Given the description of an element on the screen output the (x, y) to click on. 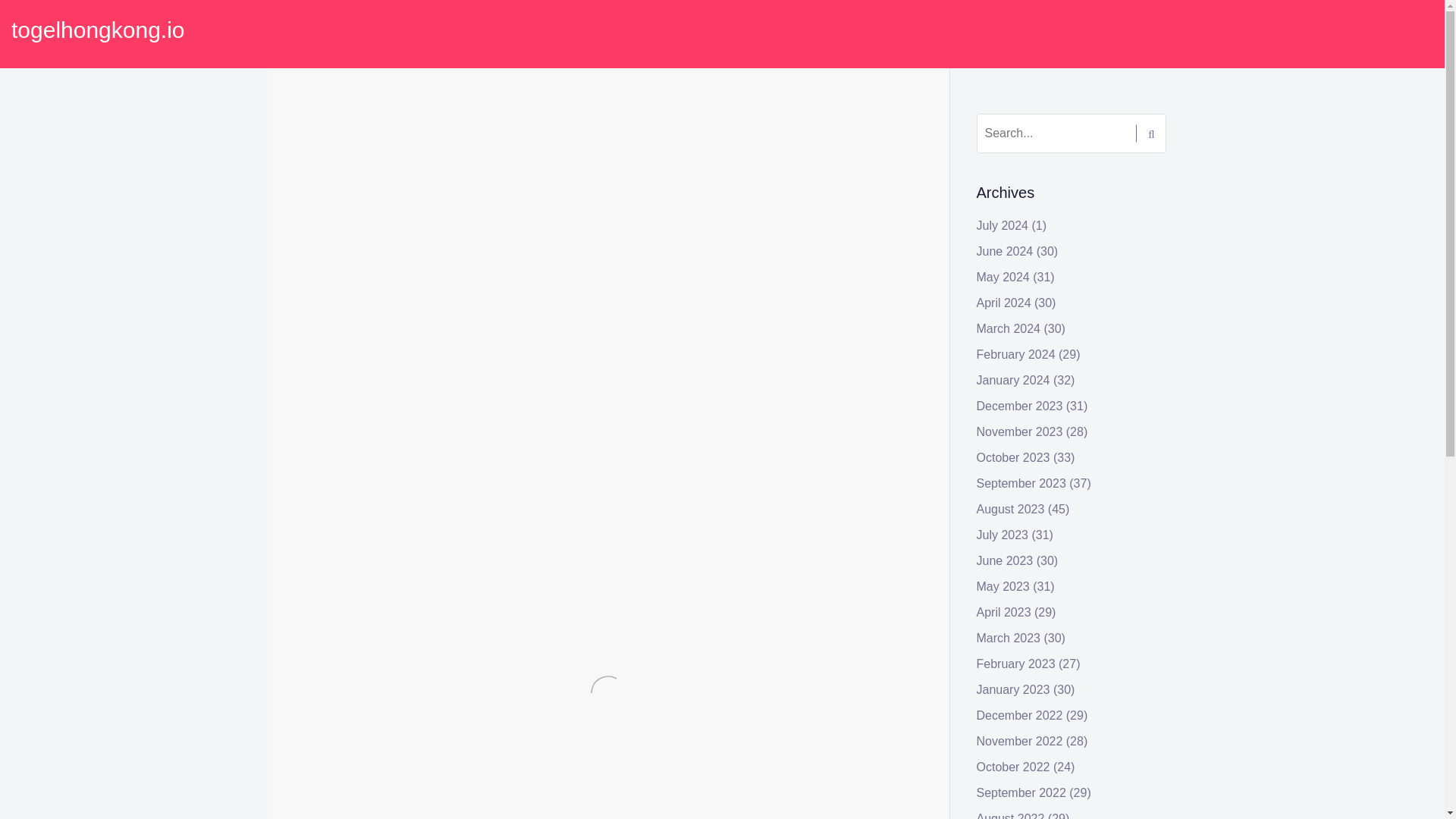
April 2024 (1003, 302)
May 2023 (1002, 585)
October 2022 (1012, 766)
September 2022 (1020, 792)
November 2022 (1019, 740)
July 2023 (1002, 534)
March 2024 (1008, 328)
October 2023 (1012, 457)
March 2023 (1008, 637)
May 2024 (1002, 277)
August 2023 (1010, 508)
January 2023 (1012, 689)
April 2023 (1003, 612)
June 2023 (1004, 560)
February 2024 (1015, 354)
